Given the description of an element on the screen output the (x, y) to click on. 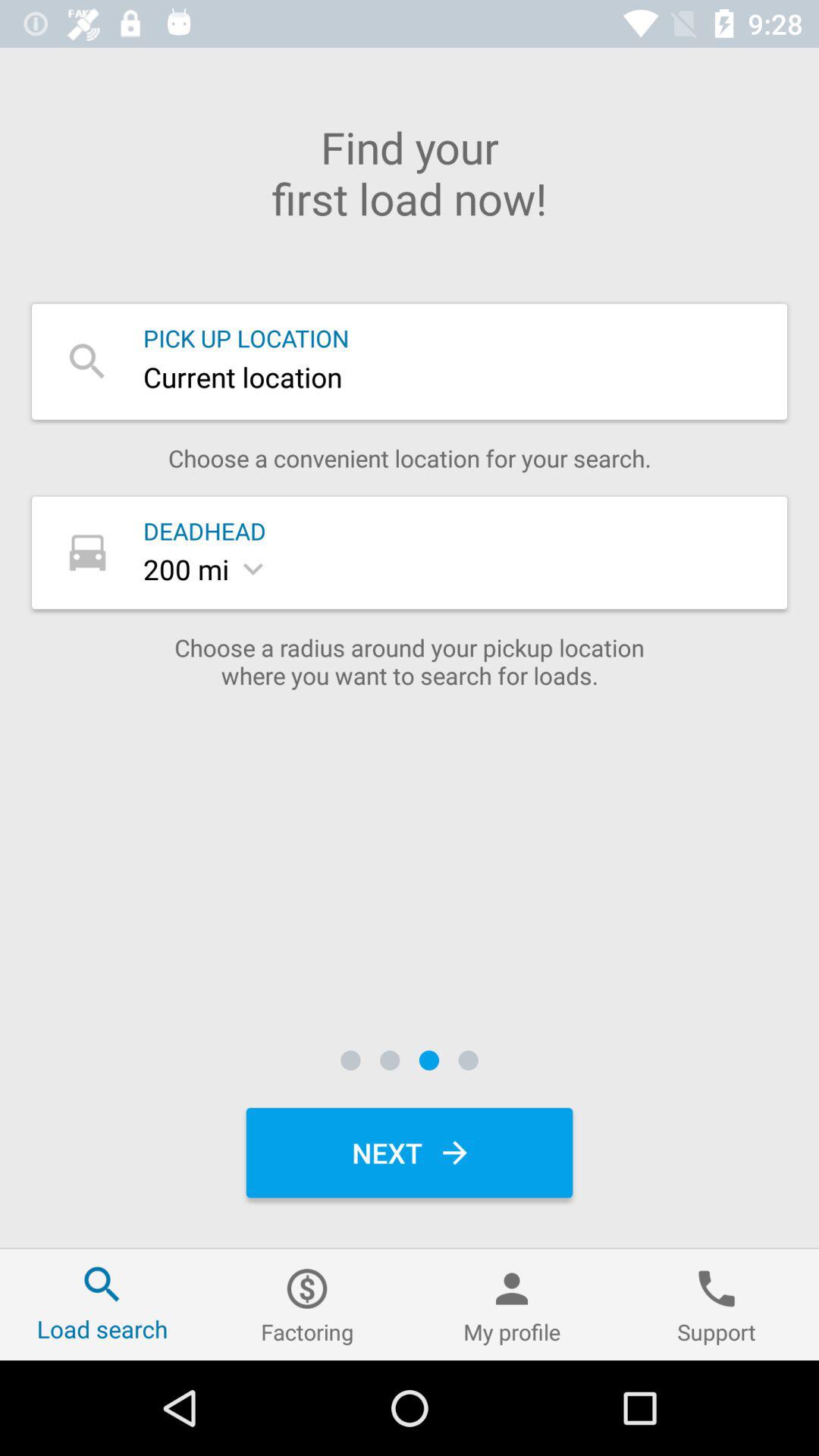
tap support at the bottom right corner (716, 1304)
